Given the description of an element on the screen output the (x, y) to click on. 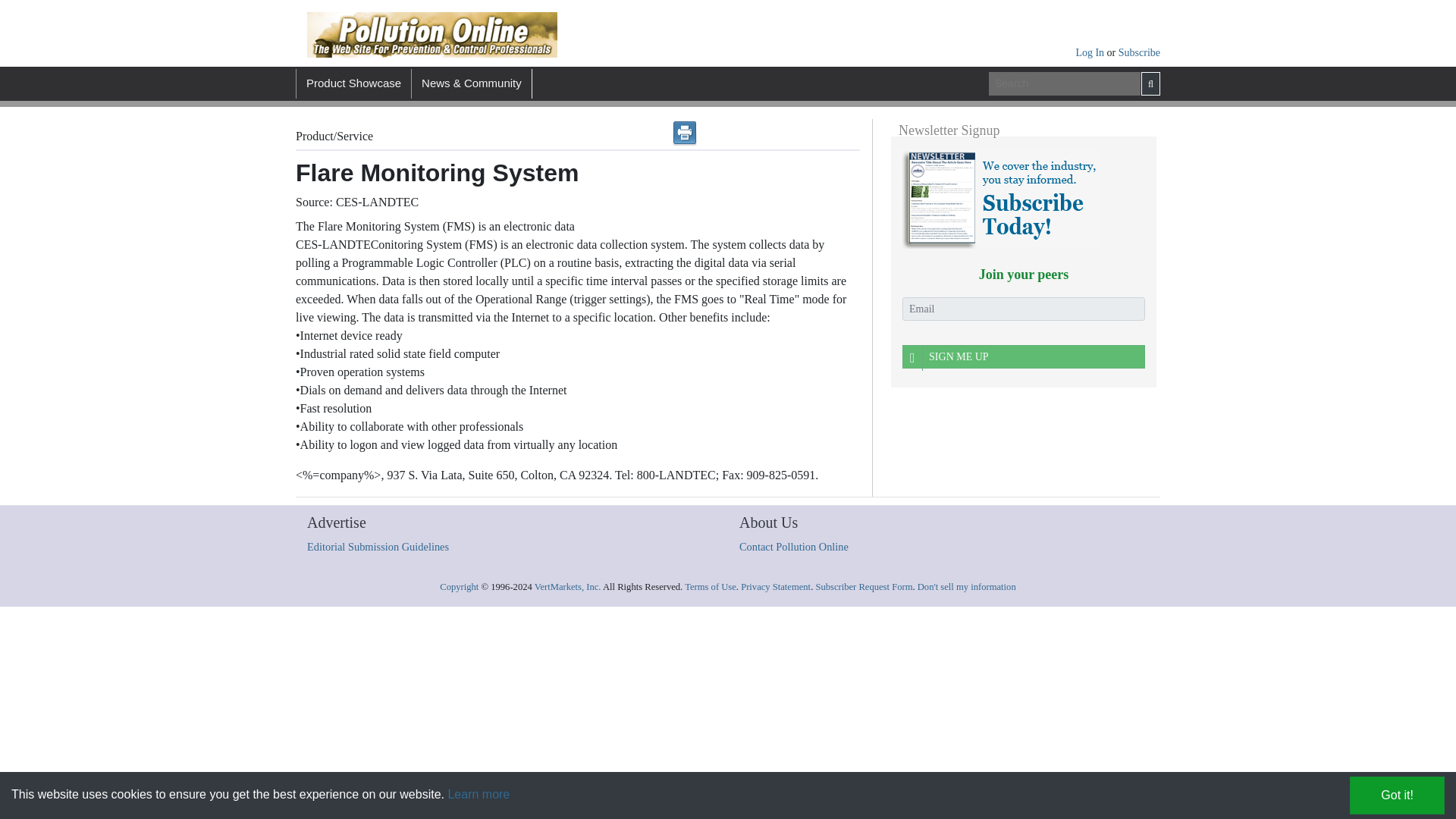
Editorial Submission Guidelines (377, 546)
Newsletter Signup (998, 198)
SIGN ME UP (1023, 356)
Log In (1090, 52)
Copyright (459, 586)
Privacy Statement (775, 586)
VertMarkets, Inc. (567, 586)
Don't sell my information (966, 586)
Print (684, 133)
Subscriber Request Form (863, 586)
